Given the description of an element on the screen output the (x, y) to click on. 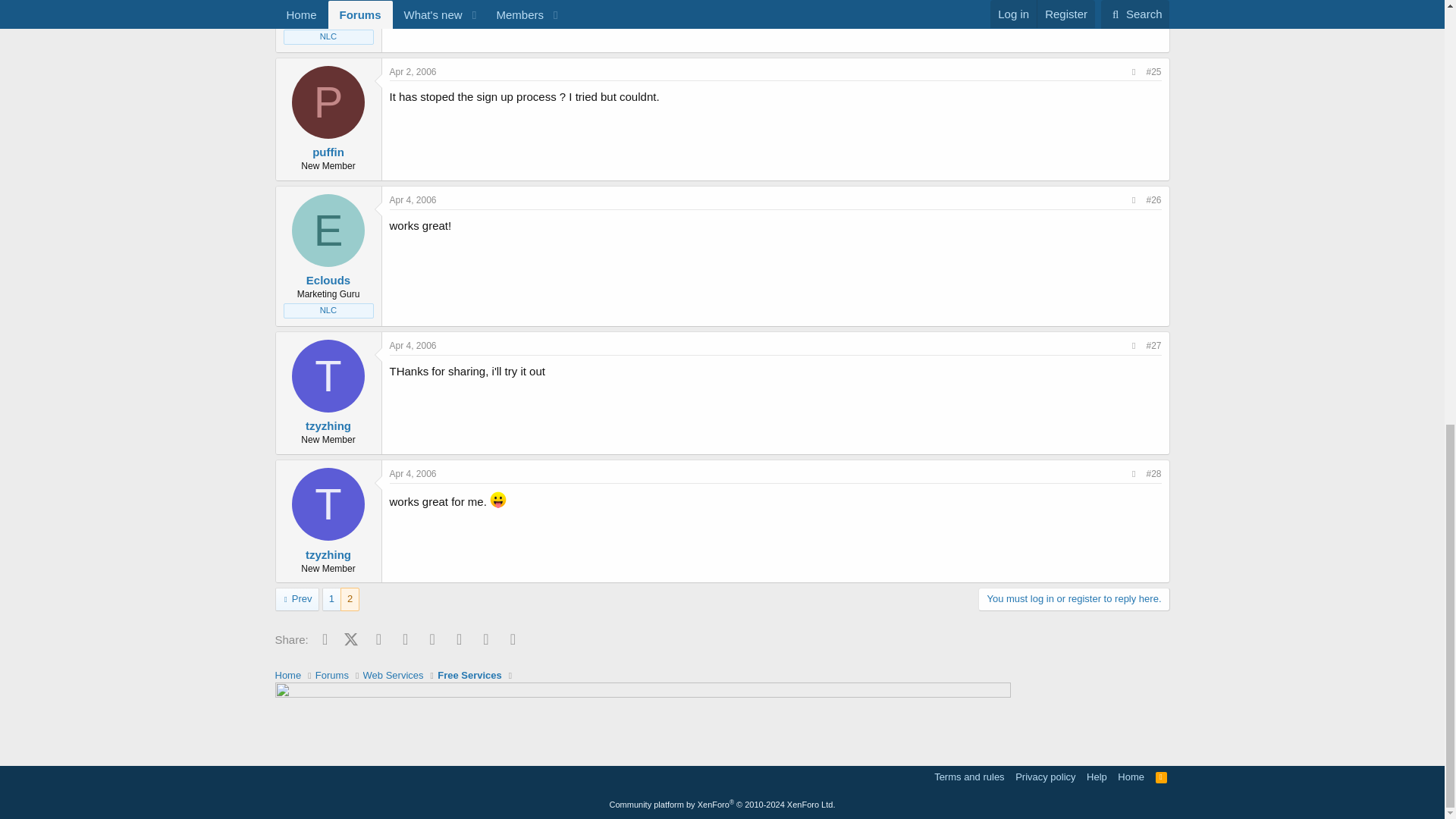
Apr 4, 2006 at 10:25 AM (413, 473)
Stick Out Tongue    :p (497, 499)
Apr 2, 2006 at 7:04 AM (413, 71)
Apr 4, 2006 at 10:14 AM (413, 345)
RSS (1161, 776)
Apr 4, 2006 at 12:57 AM (413, 199)
